Given the description of an element on the screen output the (x, y) to click on. 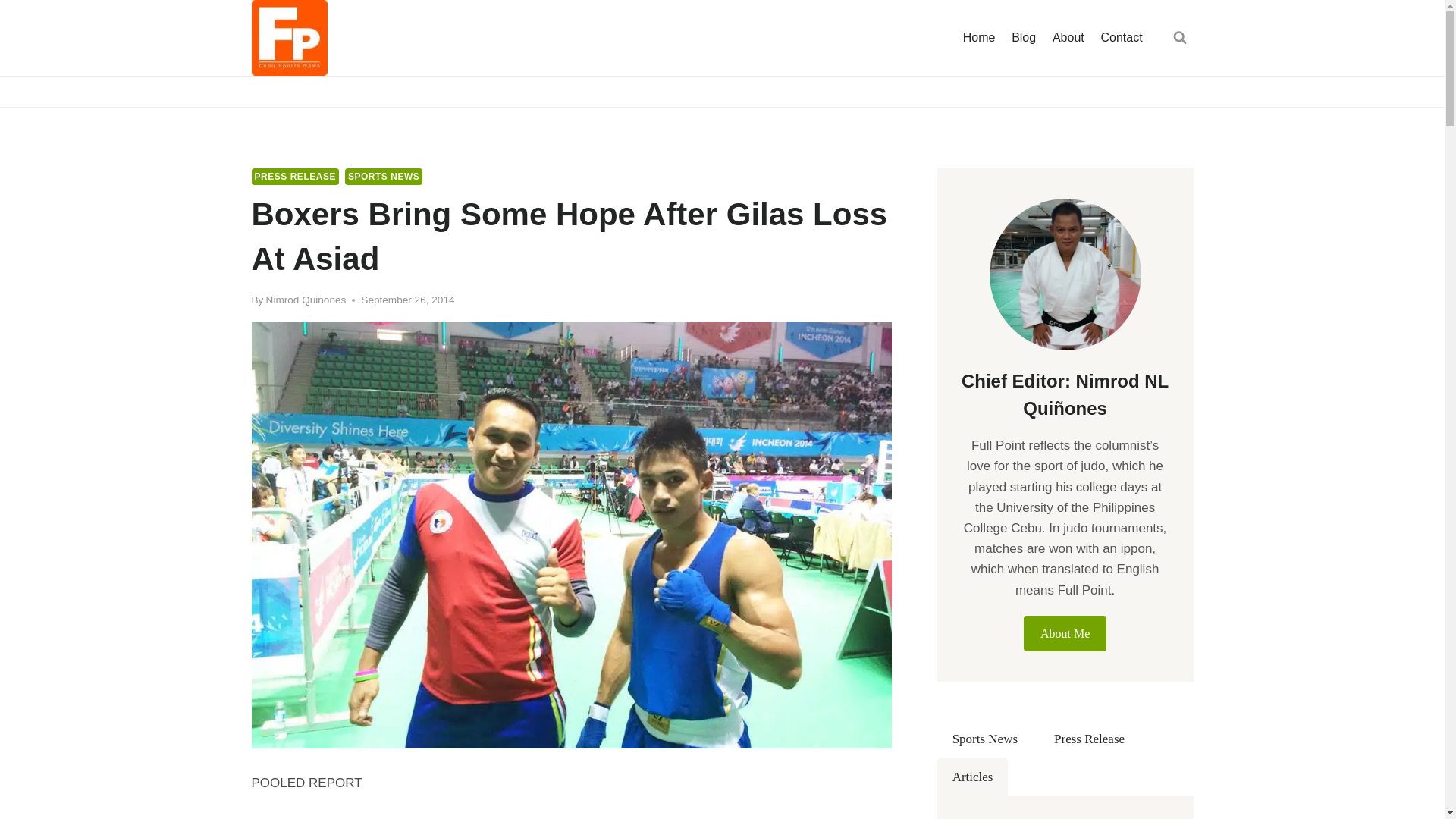
About (1068, 38)
SPORTS NEWS (383, 176)
PRESS RELEASE (295, 176)
Home (979, 38)
Blog (1023, 38)
Nimrod Quinones (306, 299)
Contact (1122, 38)
